Given the description of an element on the screen output the (x, y) to click on. 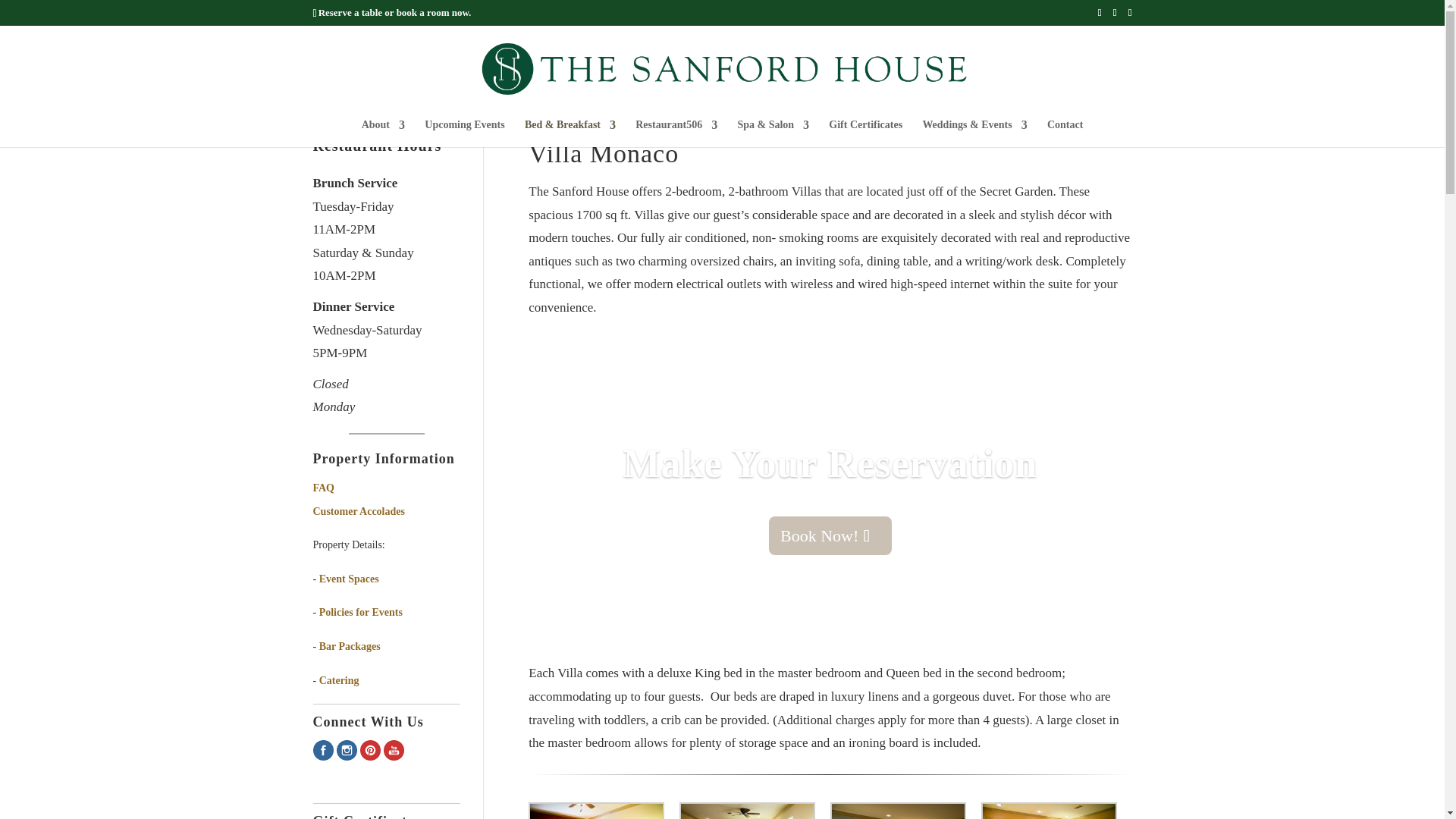
book a room now. (433, 12)
Reserve a table or (357, 12)
About (382, 133)
Upcoming Events (464, 133)
Restaurant506 (675, 133)
